Given the description of an element on the screen output the (x, y) to click on. 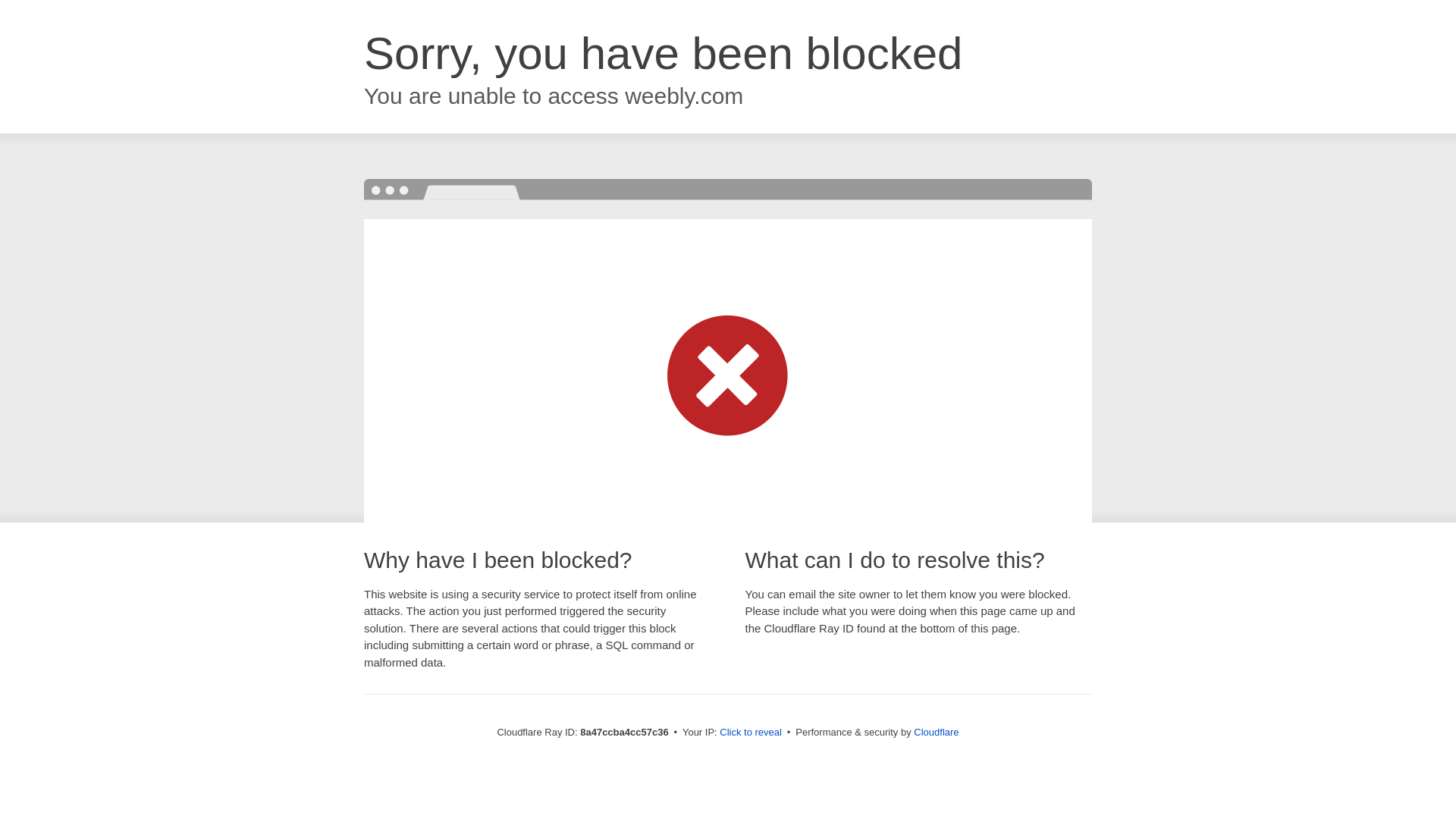
Click to reveal (750, 732)
Cloudflare (936, 731)
